Given the description of an element on the screen output the (x, y) to click on. 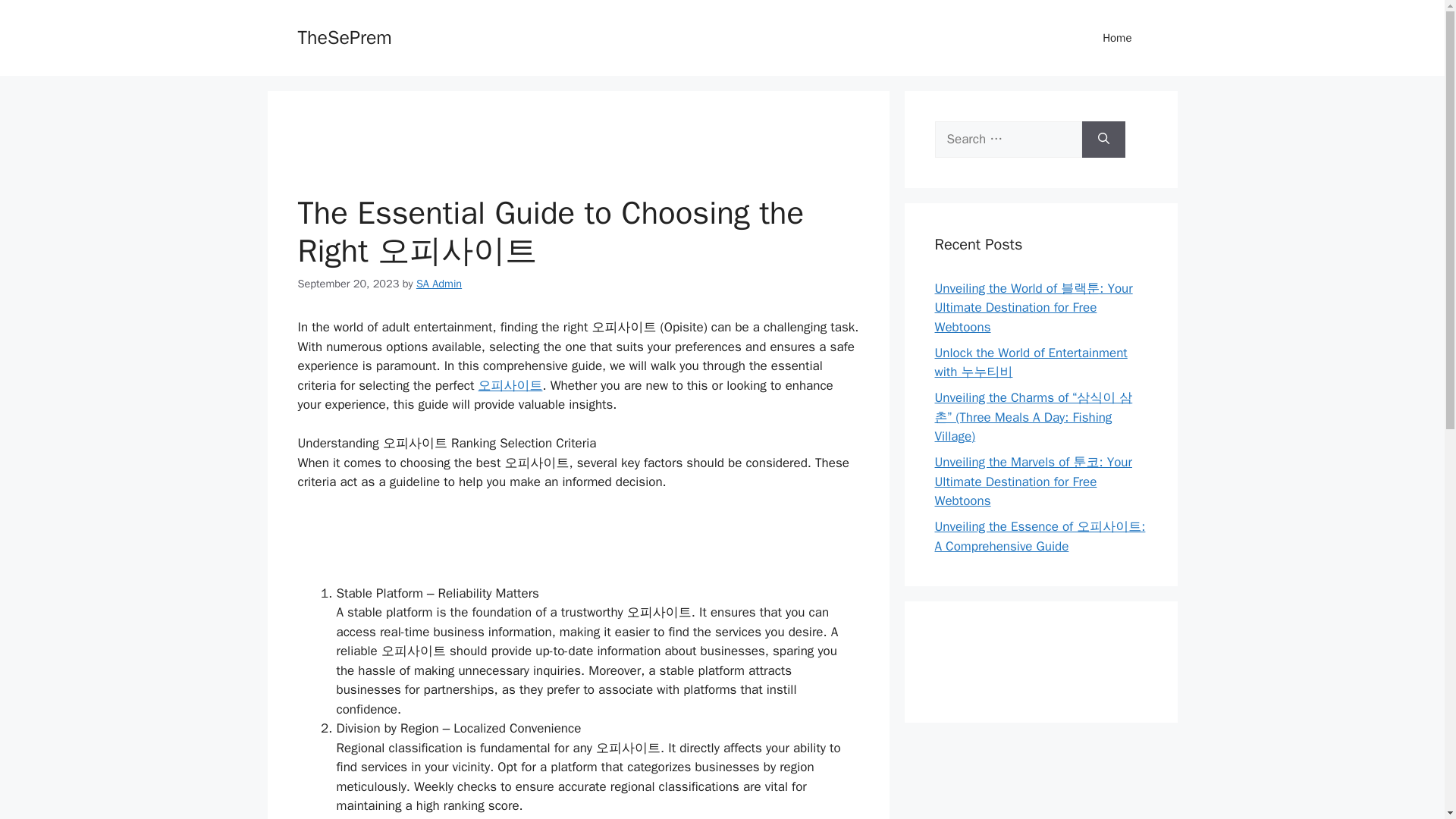
View all posts by SA Admin (438, 282)
Home (1117, 37)
Search for: (1007, 139)
TheSePrem (344, 37)
SA Admin (438, 282)
